Given the description of an element on the screen output the (x, y) to click on. 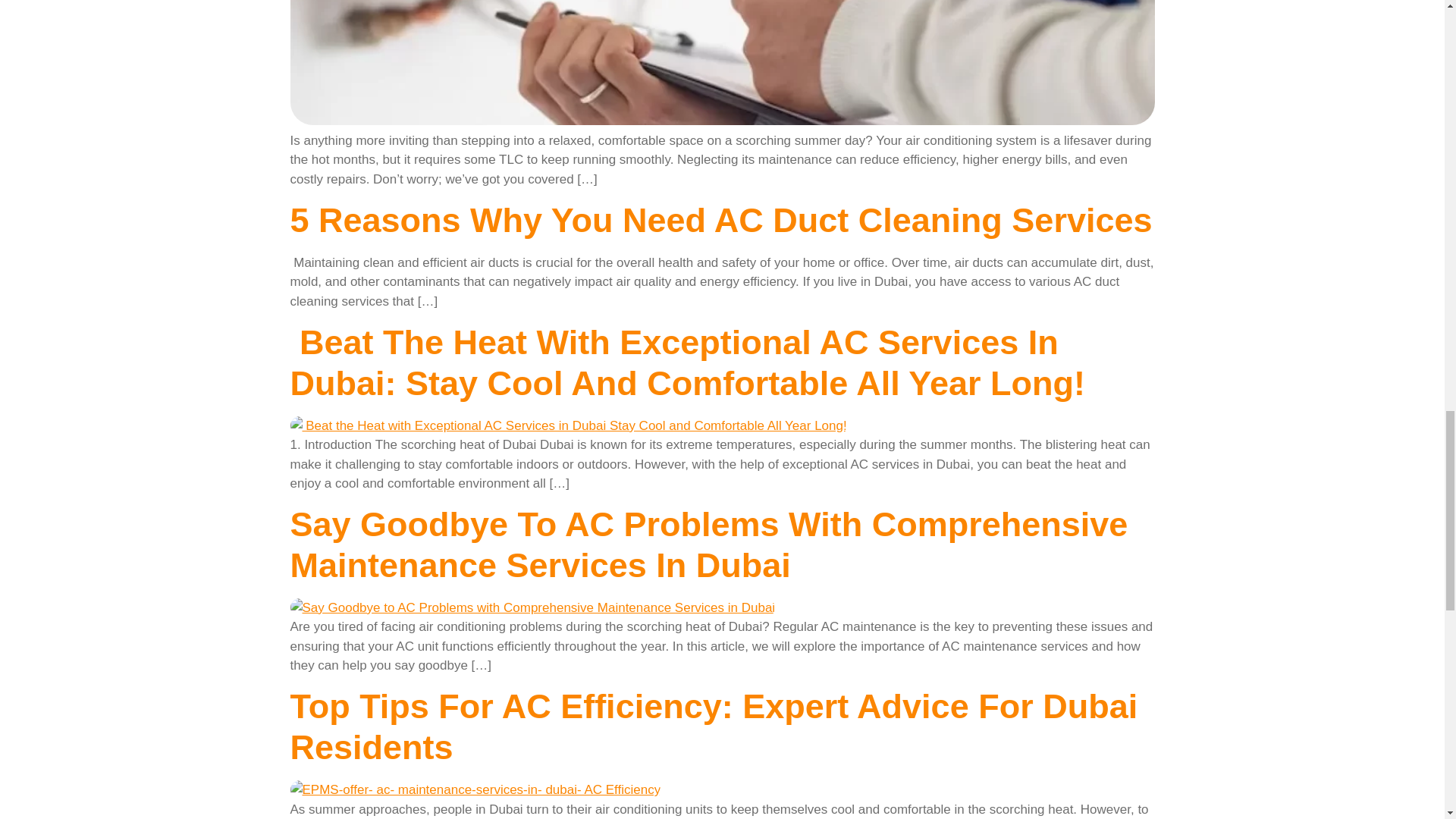
5 Reasons Why You Need AC Duct Cleaning Services (720, 219)
